Given the description of an element on the screen output the (x, y) to click on. 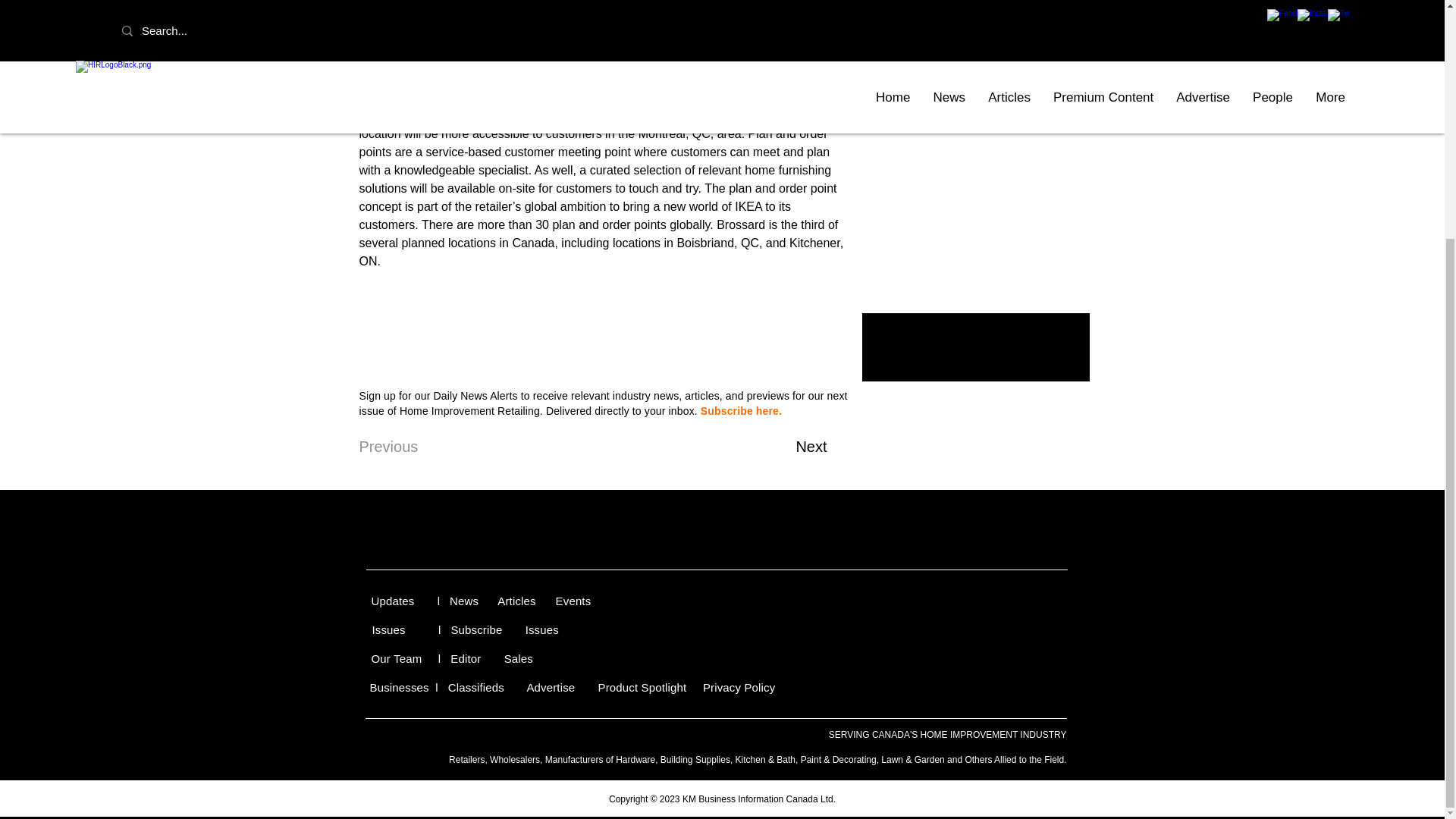
News (464, 600)
Classifieds (475, 686)
Sales (517, 658)
Next (789, 446)
Articles  (517, 600)
Previous (409, 446)
Subscribe  (477, 629)
Privacy Policy (738, 686)
Product Spotlight  (644, 686)
Events  (575, 600)
